Given the description of an element on the screen output the (x, y) to click on. 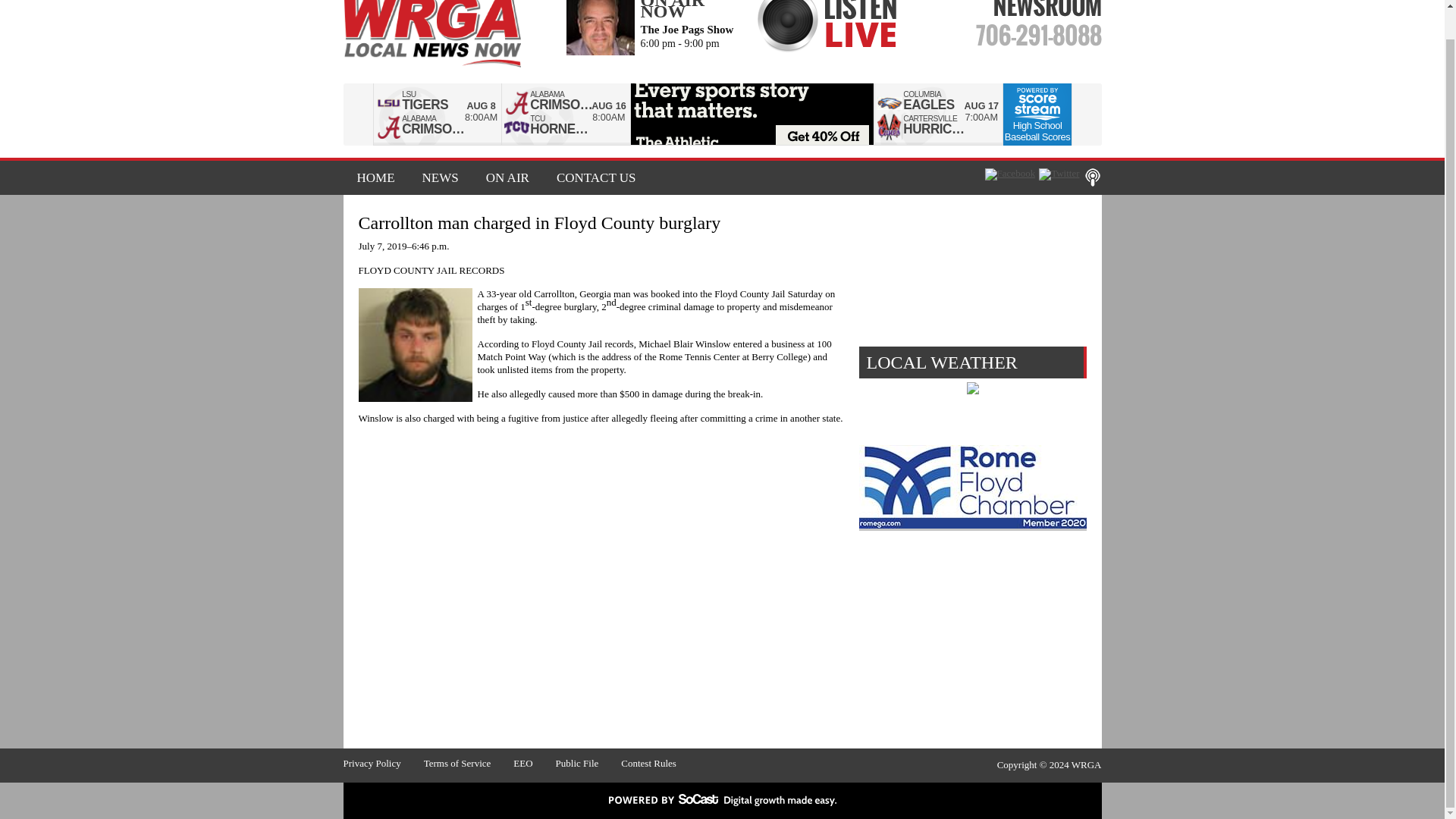
Contest Rules (659, 762)
Terms of Service (468, 762)
CONTACT US (589, 177)
Powered By SoCast (721, 799)
Podcasts (1091, 177)
EEO (533, 762)
ON AIR (507, 177)
HOME (374, 177)
Facebook (1010, 174)
Powered By SoCast (721, 802)
NEWS (440, 177)
Public File (588, 762)
Twitter (1058, 174)
Privacy Policy (382, 762)
